Given the description of an element on the screen output the (x, y) to click on. 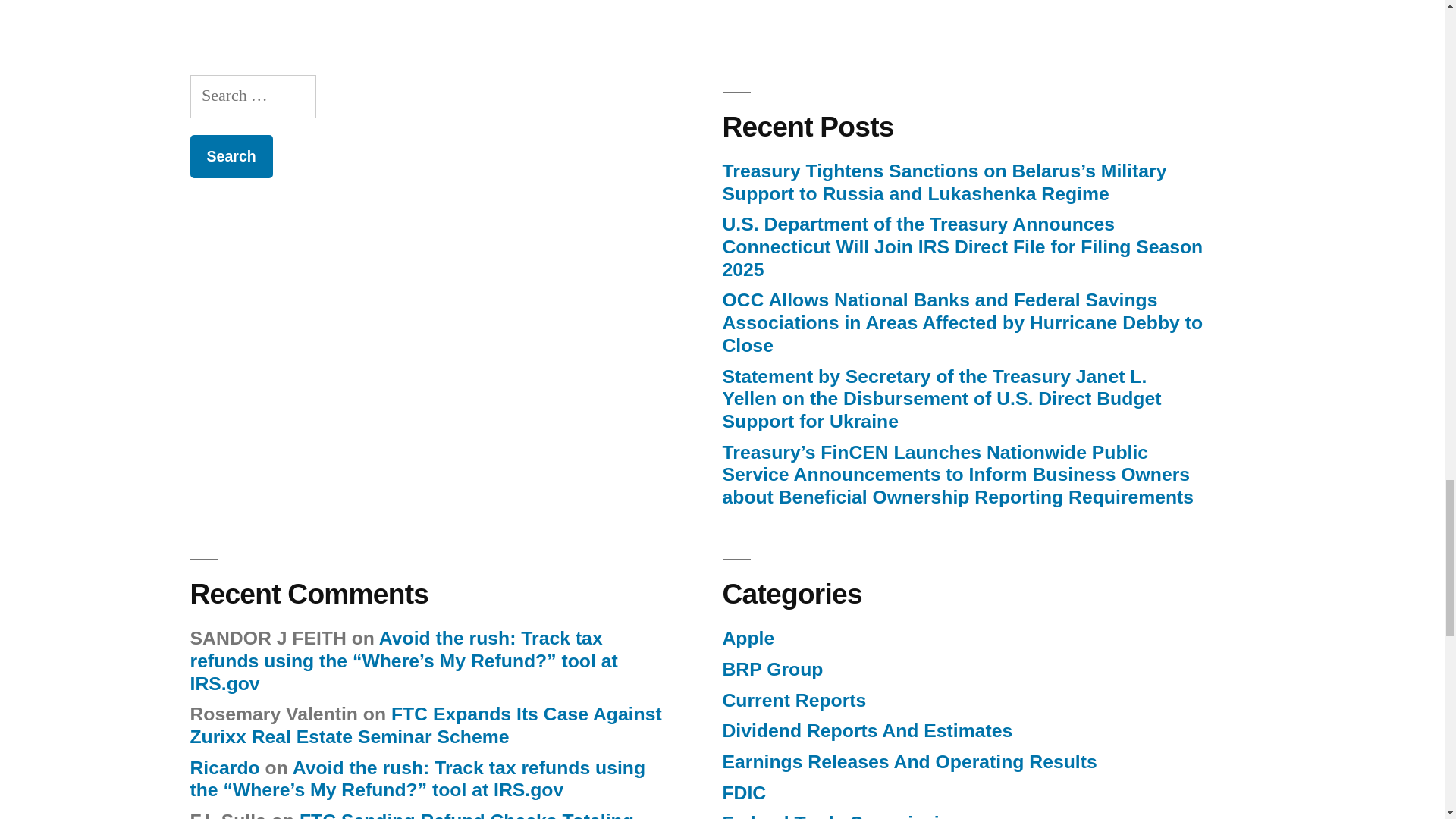
FDIC (743, 792)
Dividend Reports And Estimates (866, 730)
Federal Trade Commission (841, 816)
Ricardo (224, 767)
Search (230, 156)
Search (230, 156)
Search (230, 156)
Current Reports (794, 700)
